Given the description of an element on the screen output the (x, y) to click on. 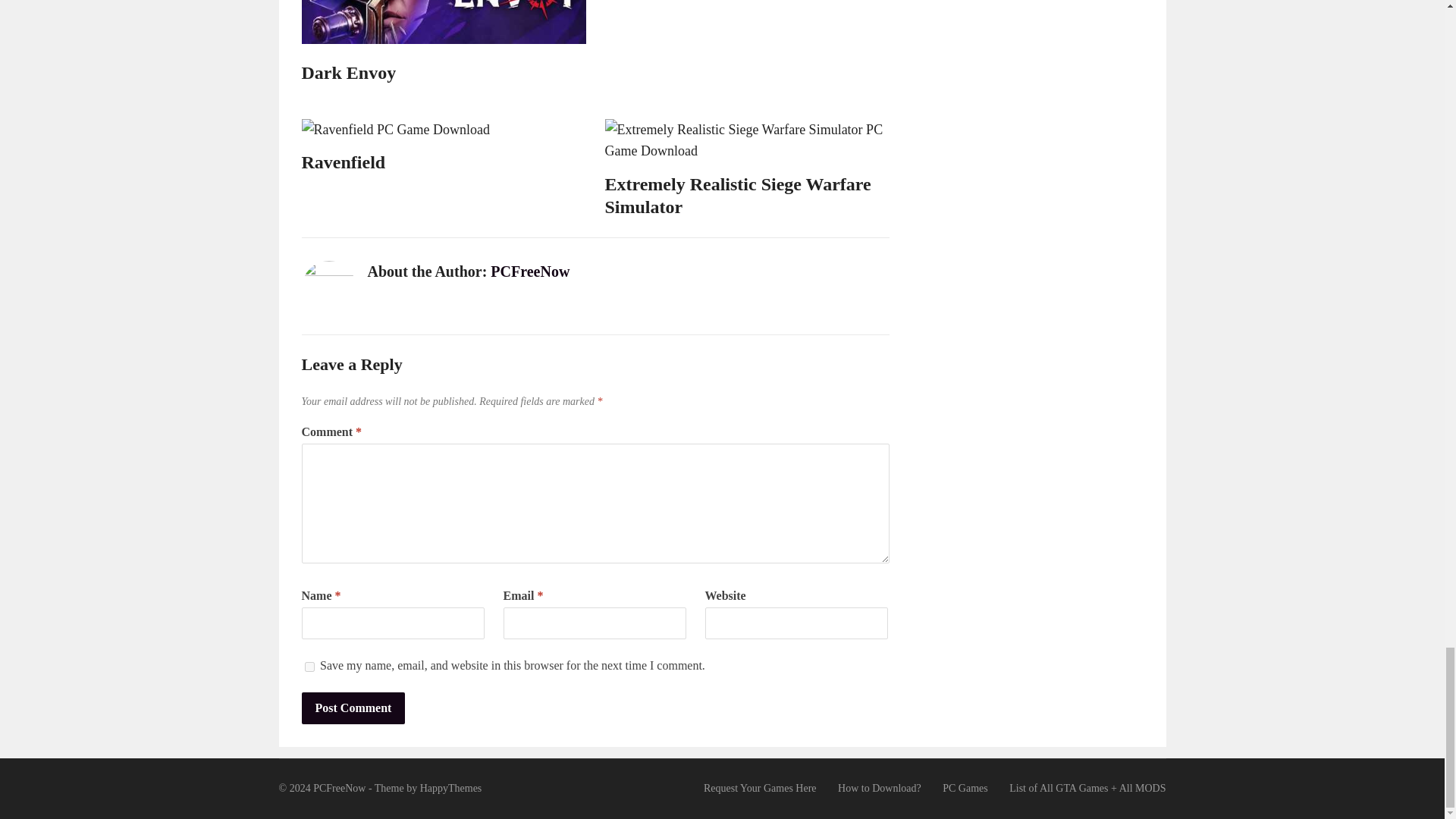
Post Comment (353, 708)
1428: Shadows over Silesia (709, 73)
PCFreeNow (529, 271)
Post Comment (353, 708)
Extremely Realistic Siege Warfare Simulator (737, 196)
Dark Envoy (348, 73)
yes (309, 666)
Ravenfield (343, 162)
